Given the description of an element on the screen output the (x, y) to click on. 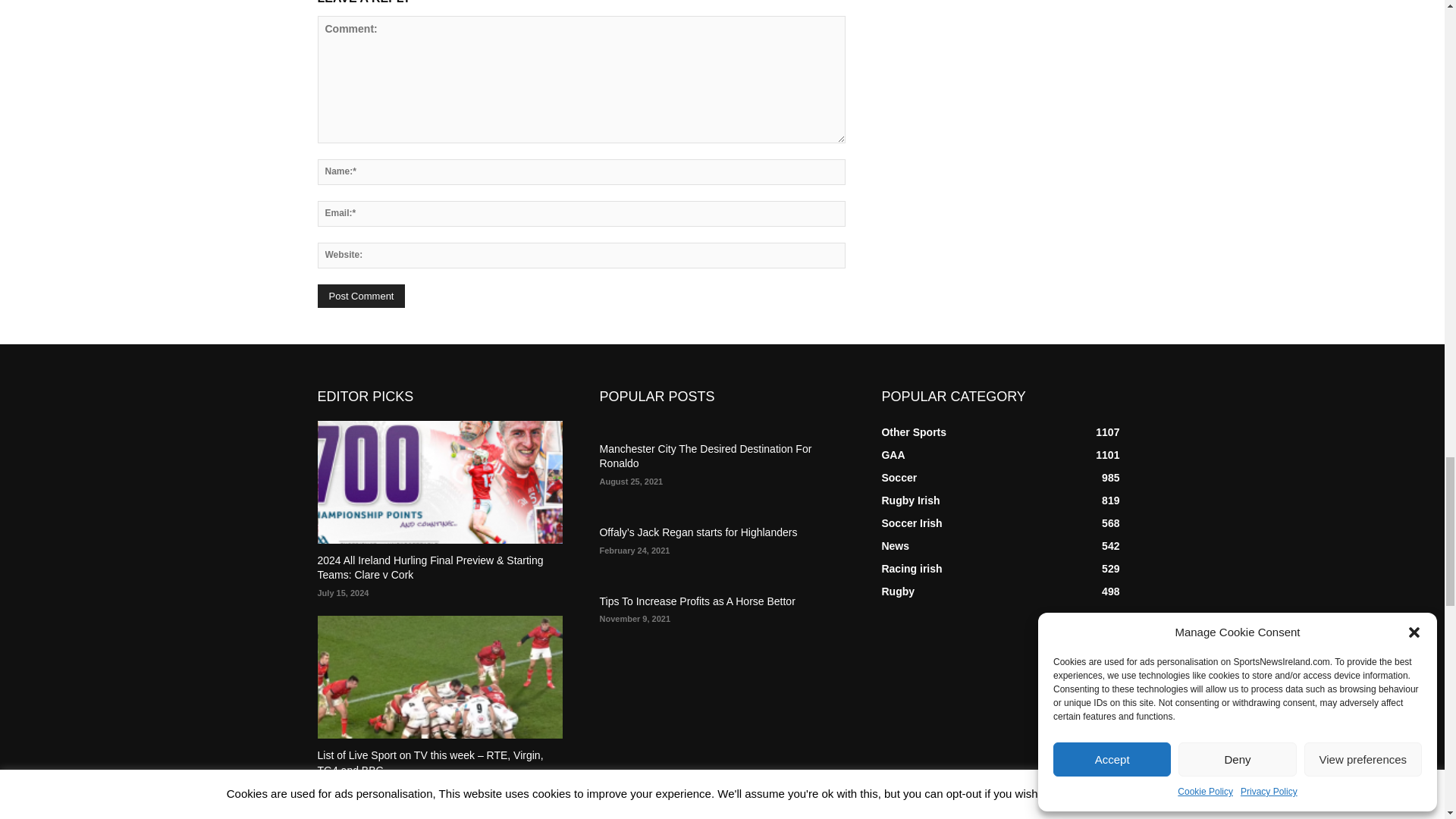
Post Comment (360, 295)
